Given the description of an element on the screen output the (x, y) to click on. 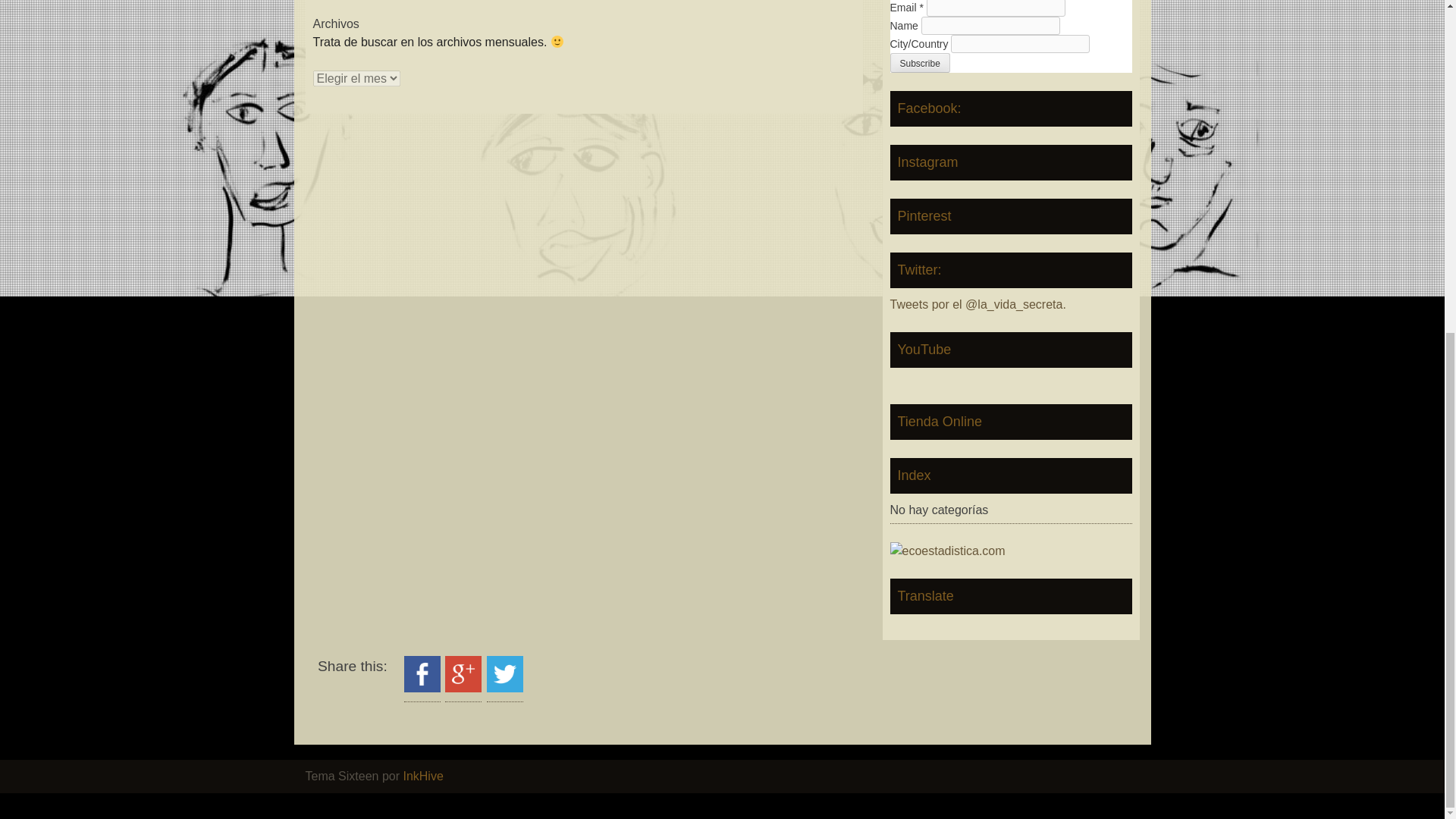
Share via Twitter (504, 687)
Subscribe (919, 62)
Share via Google (463, 687)
Subscribe (919, 62)
InkHive (422, 775)
Share via Facebook (422, 687)
